Given the description of an element on the screen output the (x, y) to click on. 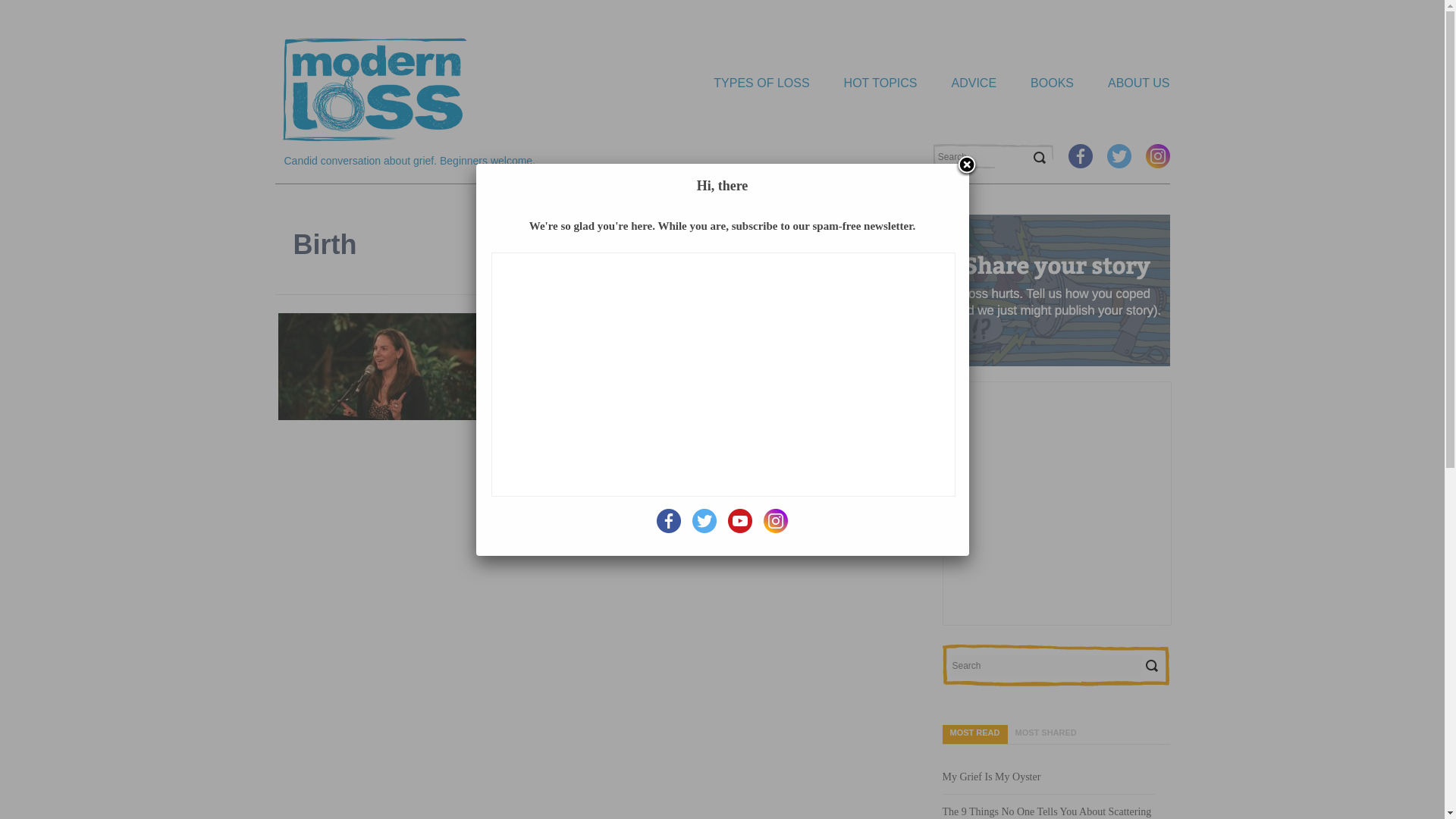
ABOUT US (1122, 82)
Posts by Emily Ziff Griffin (556, 340)
BOOKS (1034, 82)
HOT TOPICS (863, 82)
Close (966, 165)
TYPES OF LOSS (744, 82)
ADVICE (957, 82)
Search (1150, 665)
Search (1039, 157)
